Given the description of an element on the screen output the (x, y) to click on. 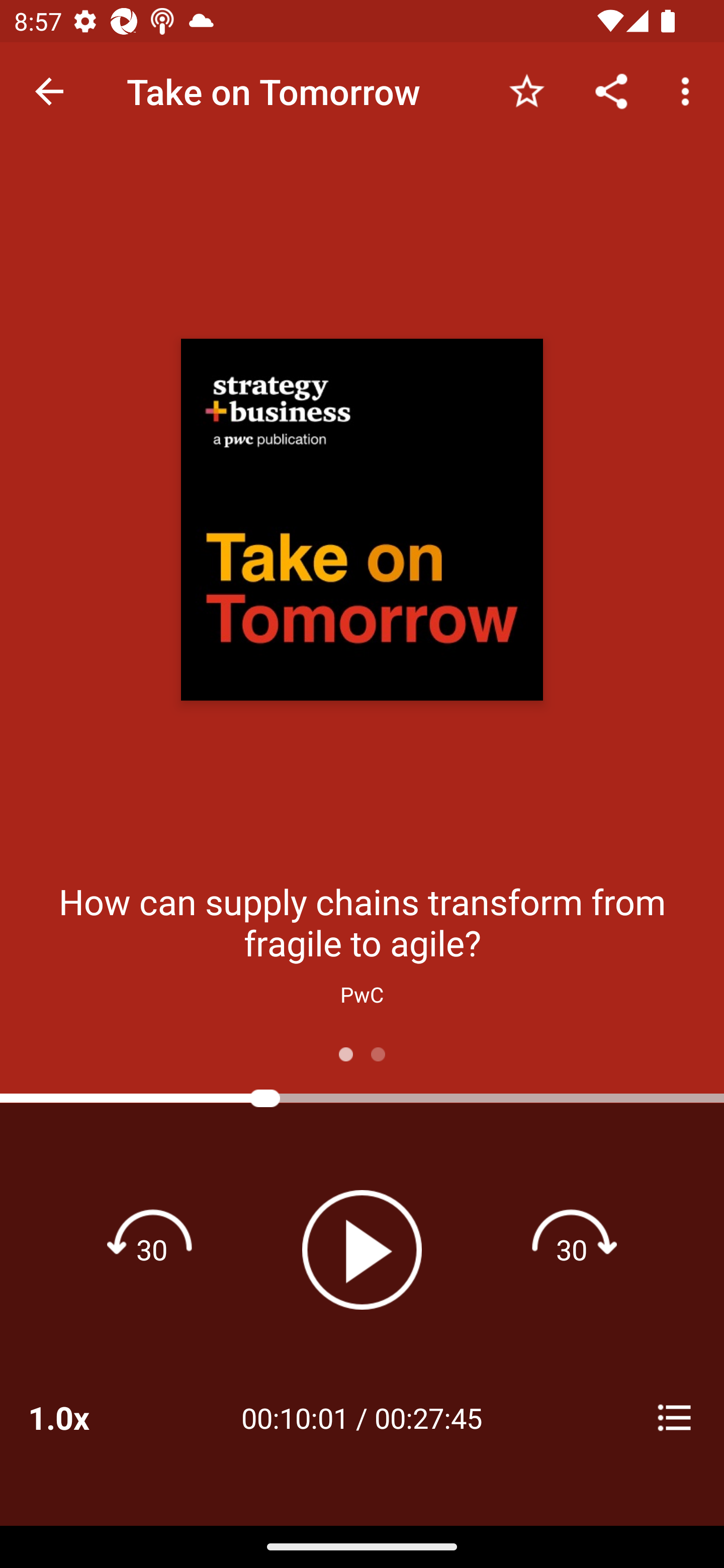
Navigate up (49, 91)
Add to Favorites (526, 90)
Share... (611, 90)
More options (688, 90)
PwC (361, 994)
Play (361, 1249)
Rewind (151, 1249)
Fast forward (571, 1249)
1.0x Playback Speeds (84, 1417)
00:27:45 (428, 1417)
